Given the description of an element on the screen output the (x, y) to click on. 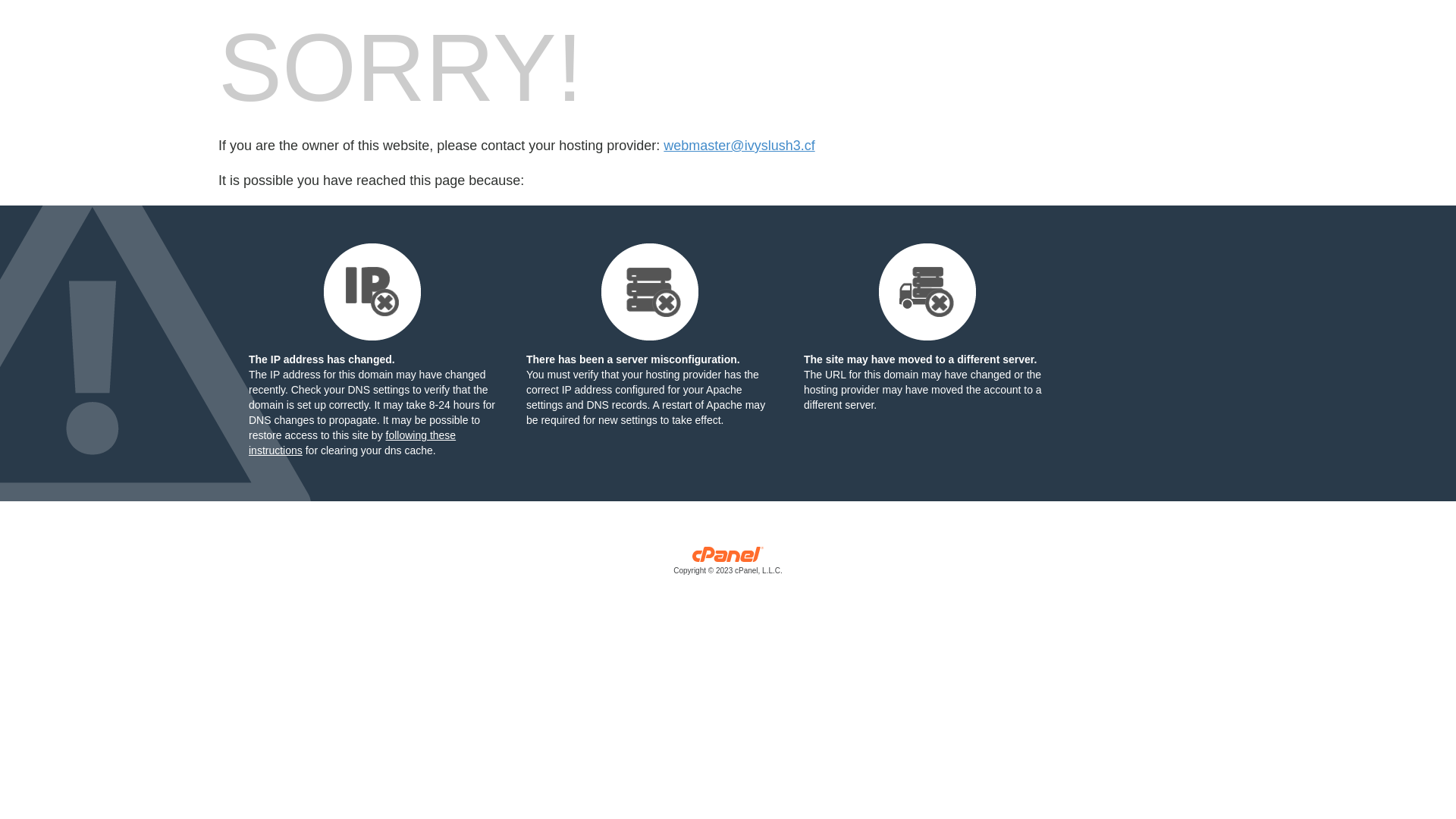
webmaster@ivyslush3.cf Element type: text (738, 145)
following these instructions Element type: text (351, 442)
